Given the description of an element on the screen output the (x, y) to click on. 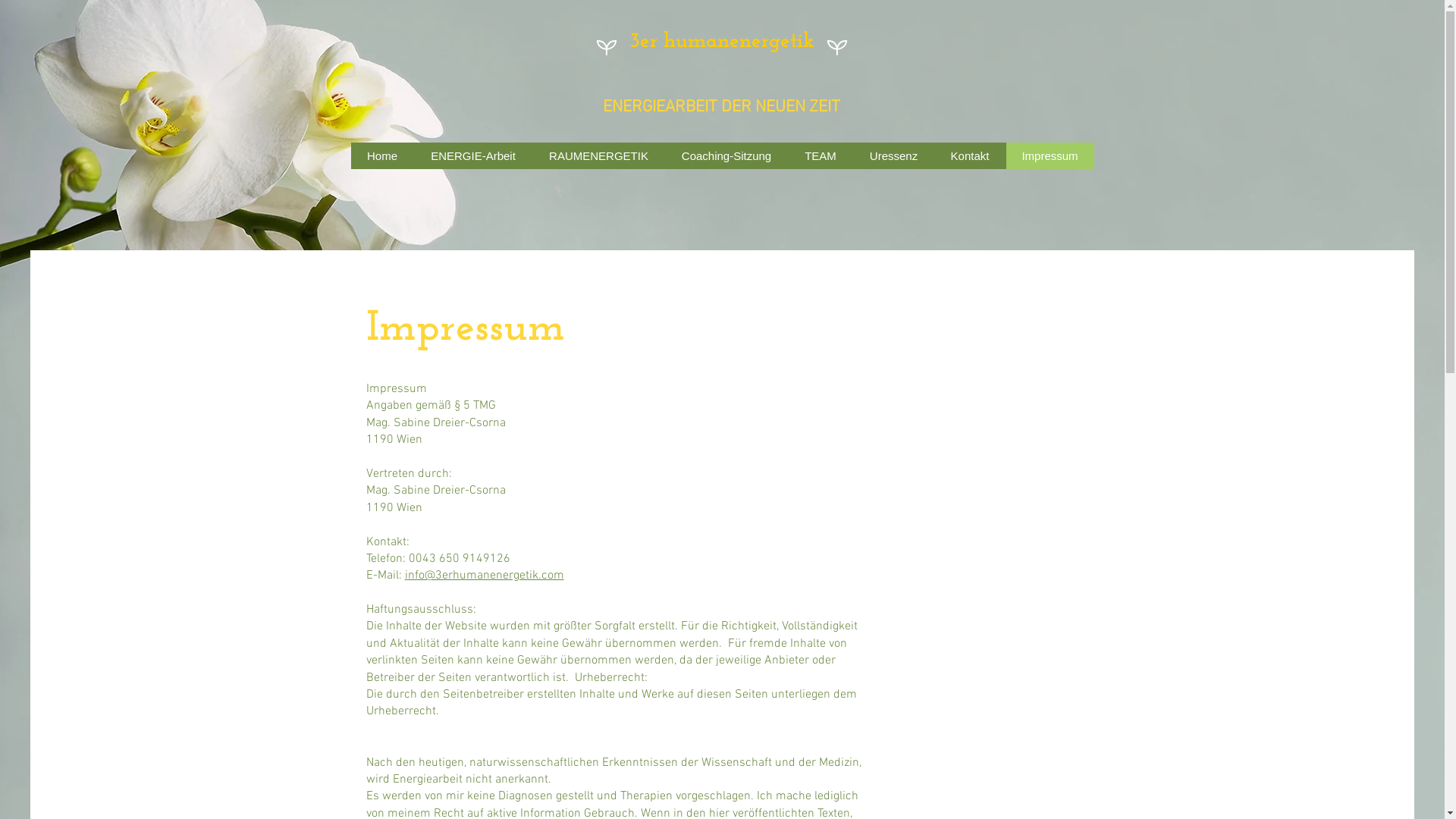
Uressenz Element type: text (892, 155)
ENERGIEARBEIT DER NEUEN ZEIT Element type: text (720, 107)
Impressum Element type: text (1049, 155)
3er humanenergetik Element type: text (721, 41)
ENERGIE-Arbeit Element type: text (473, 155)
RAUMENERGETIK Element type: text (598, 155)
info@3erhumanenergetik.com Element type: text (484, 575)
Home Element type: text (381, 155)
Kontakt Element type: text (969, 155)
Coaching-Sitzung Element type: text (725, 155)
TEAM Element type: text (819, 155)
